Given the description of an element on the screen output the (x, y) to click on. 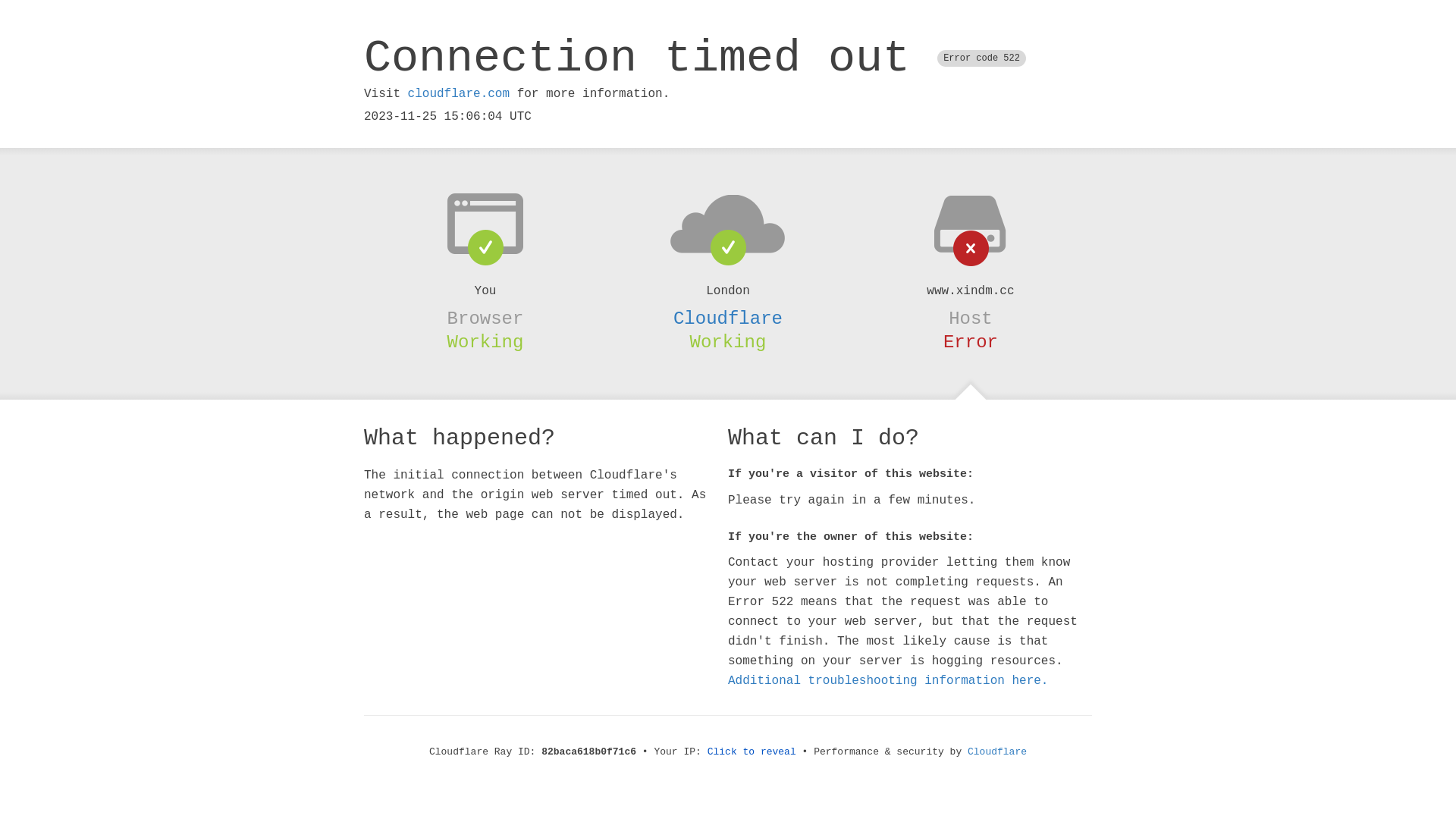
Cloudflare Element type: text (727, 318)
cloudflare.com Element type: text (458, 93)
Additional troubleshooting information here. Element type: text (888, 680)
Cloudflare Element type: text (996, 751)
Click to reveal Element type: text (751, 751)
